Given the description of an element on the screen output the (x, y) to click on. 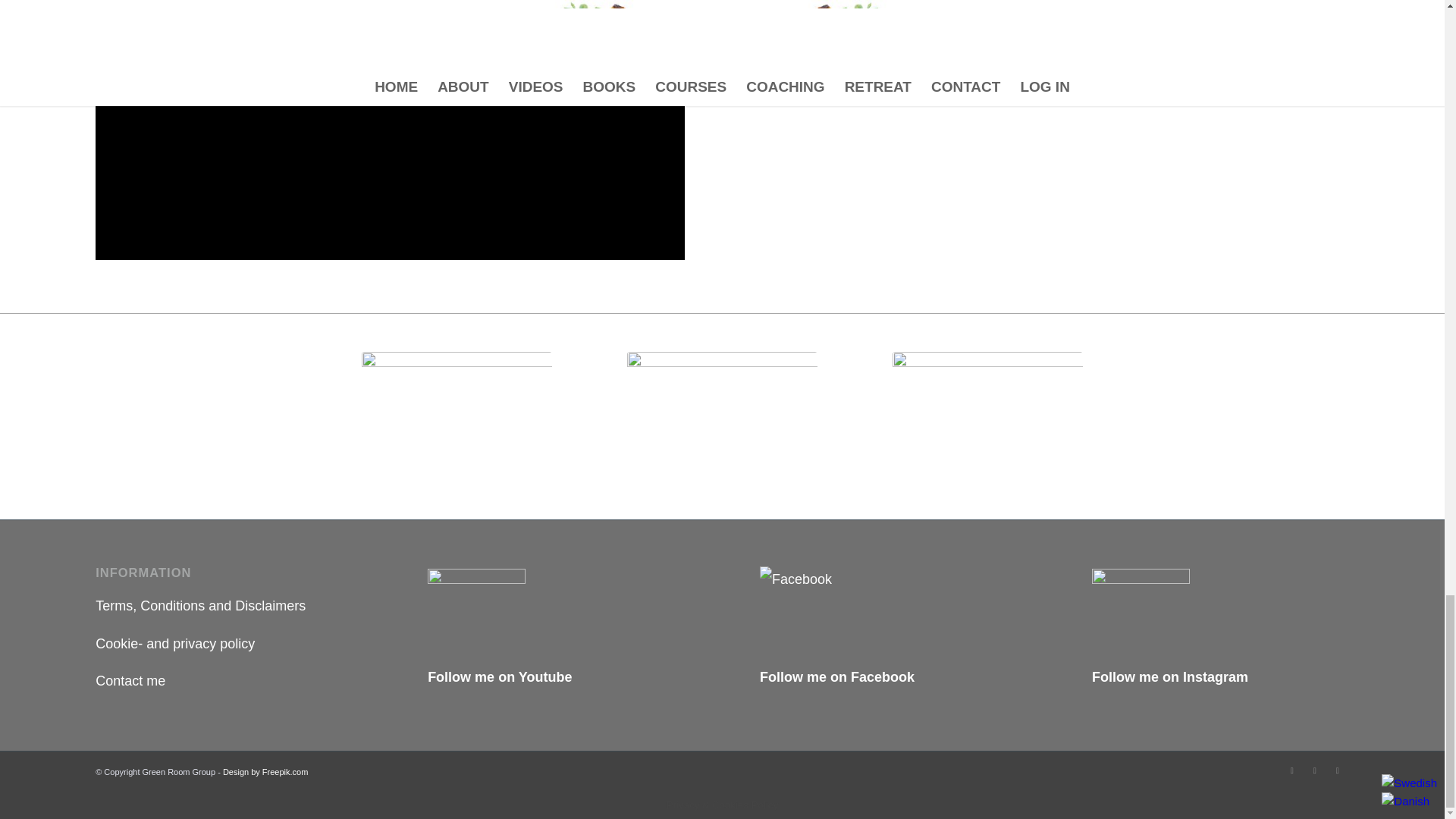
Terms, Conditions and Disclaimers (200, 605)
Design by Freepik.com (265, 771)
Youtubefrugt (721, 399)
Contact me (130, 680)
Instagramfrugt (987, 410)
Youtube (1337, 770)
Instagram (1314, 770)
Facebookfrugt (456, 417)
Facebook (1292, 770)
Cookie- and privacy policy (175, 643)
